Given the description of an element on the screen output the (x, y) to click on. 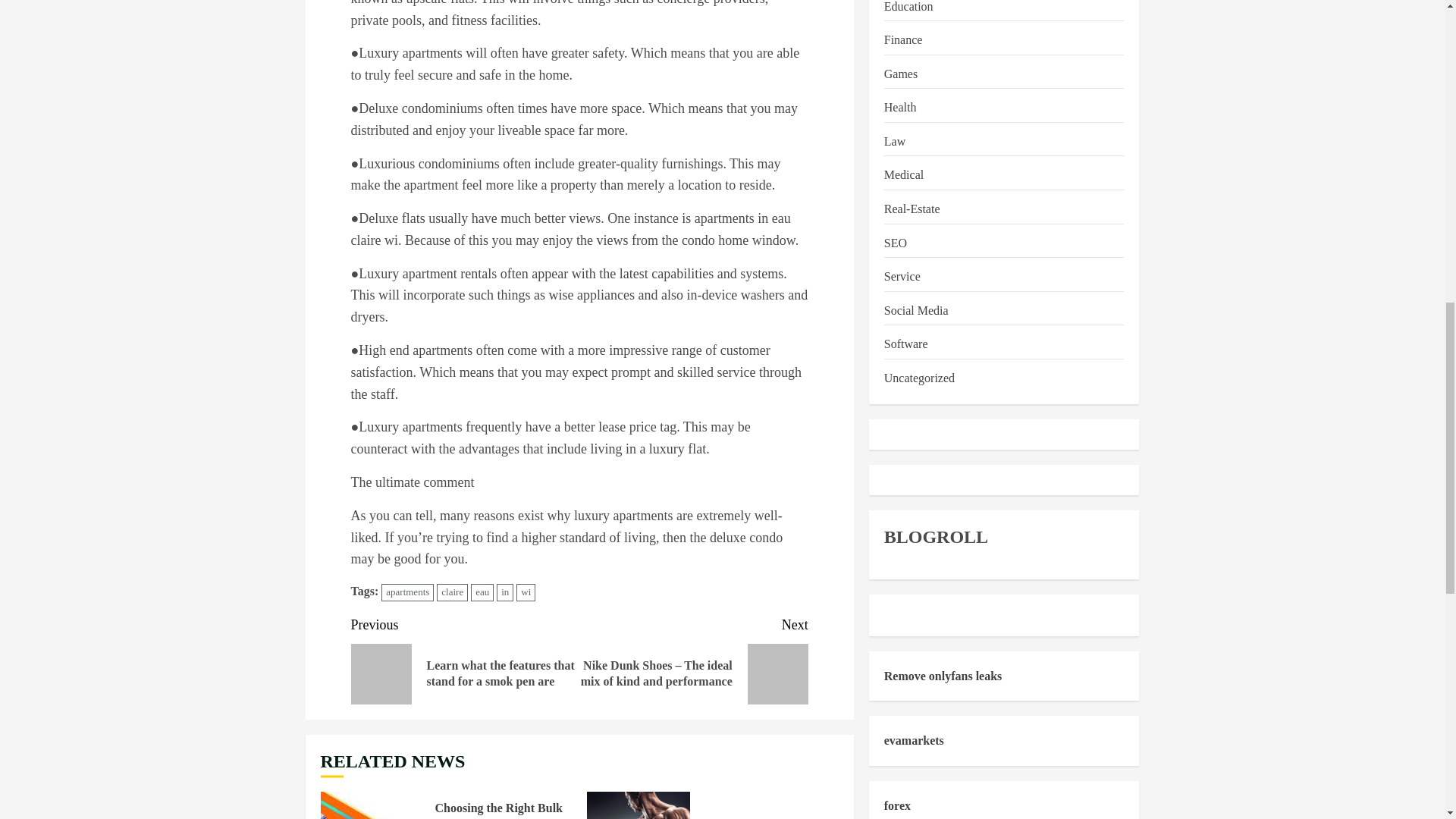
eau (481, 592)
wi (525, 592)
Buying Trenbolone: What You Should Consider (638, 805)
claire (451, 592)
Education (908, 8)
Finance (903, 40)
Games (900, 74)
apartments (407, 592)
in (504, 592)
Health (900, 107)
